Given the description of an element on the screen output the (x, y) to click on. 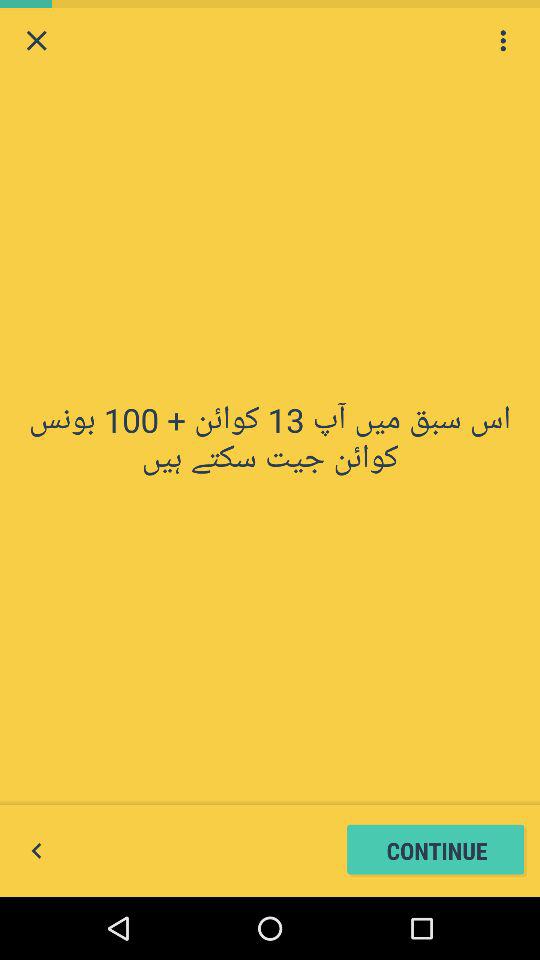
tap the icon at the top right corner (503, 40)
